Given the description of an element on the screen output the (x, y) to click on. 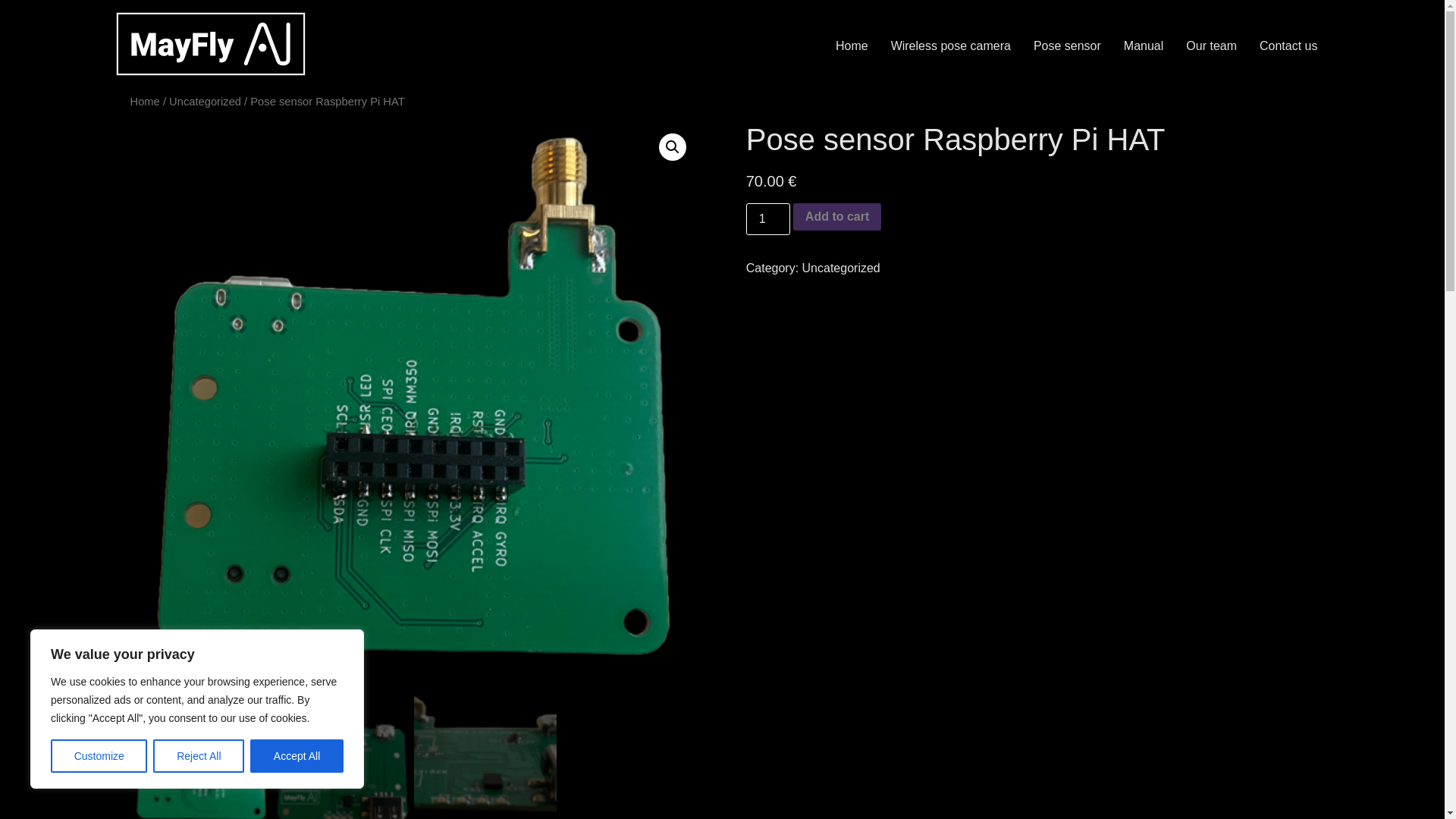
Accept All (296, 756)
Uncategorized (841, 267)
Manual (1143, 46)
Uncategorized (204, 101)
Home (145, 101)
Customize (98, 756)
Our team (1210, 46)
Add to cart (836, 216)
Home (851, 46)
Pose sensor (1067, 46)
Wireless pose camera (950, 46)
Contact us (1287, 46)
Reject All (198, 756)
1 (767, 219)
